Given the description of an element on the screen output the (x, y) to click on. 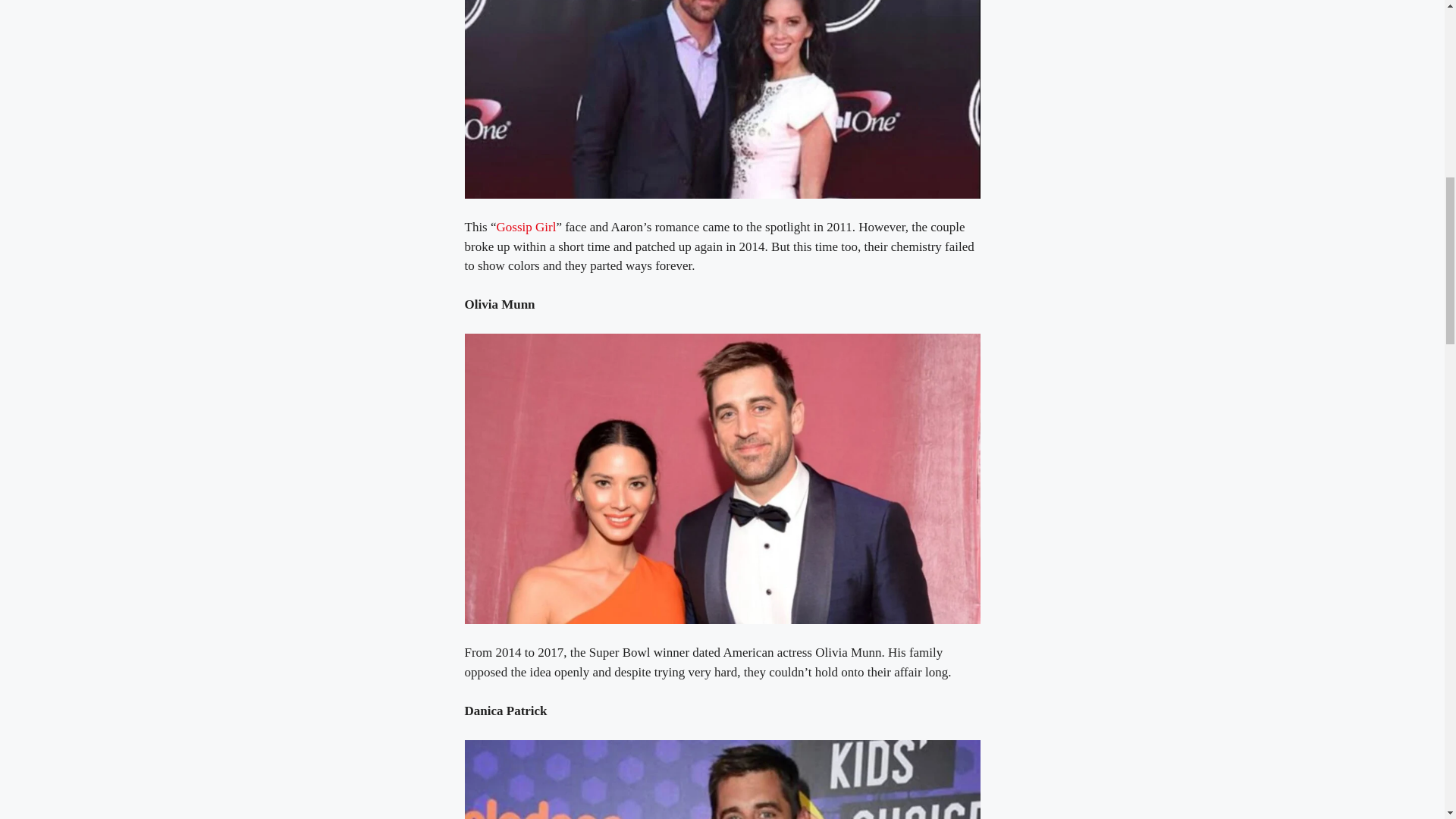
Gossip Girl (526, 227)
